Given the description of an element on the screen output the (x, y) to click on. 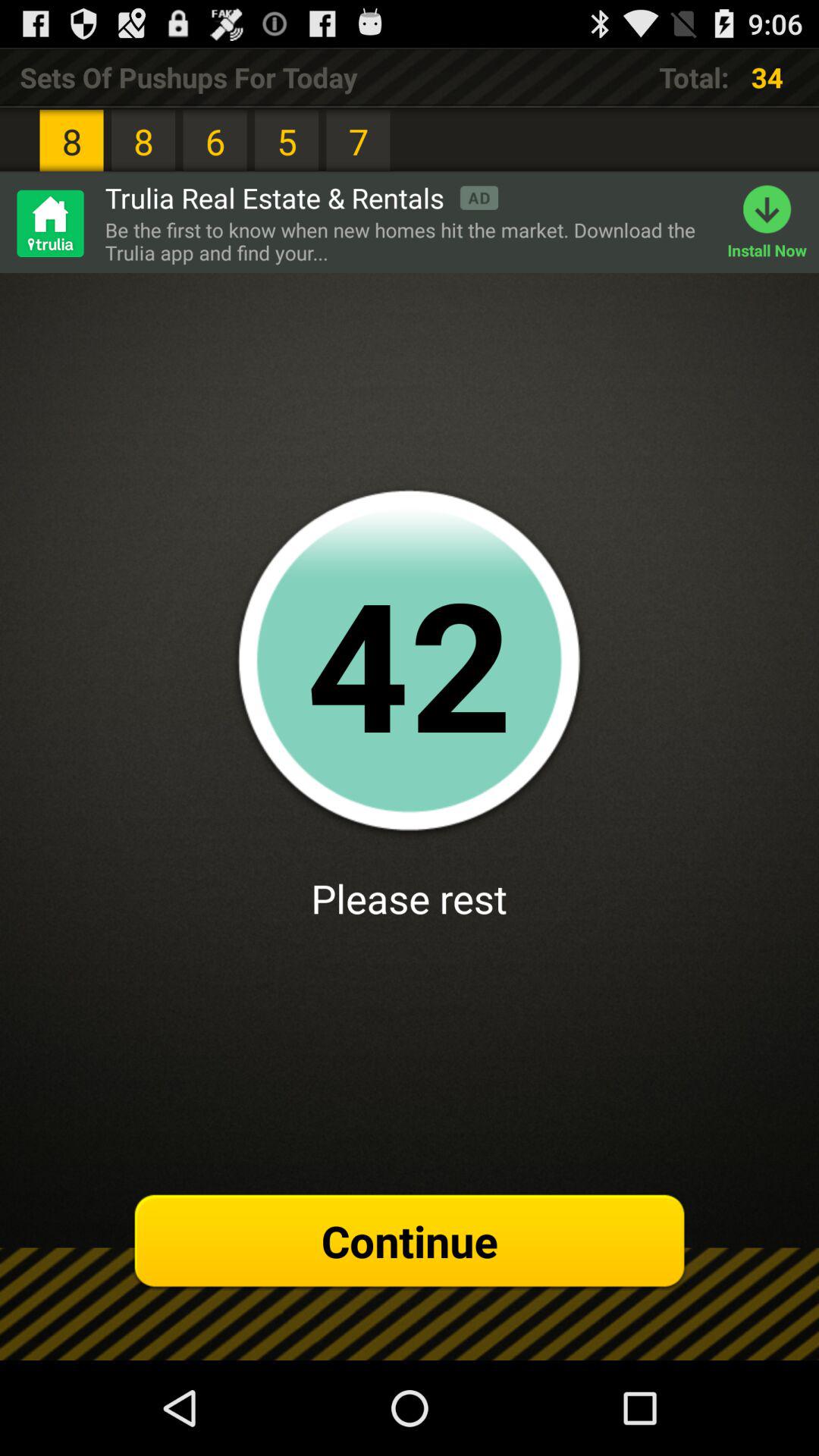
press the icon above the be the first app (301, 197)
